Given the description of an element on the screen output the (x, y) to click on. 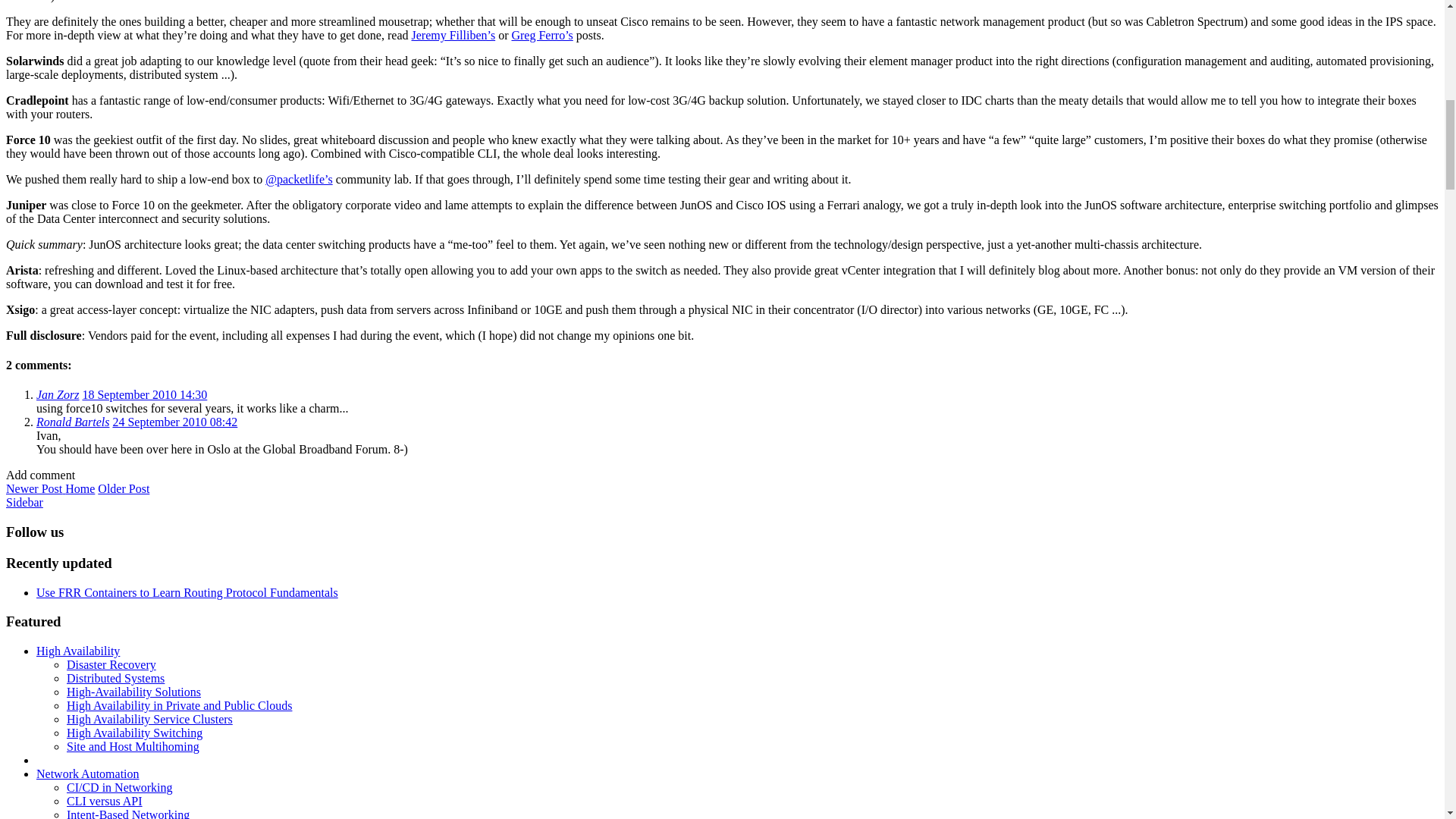
Newer Post (35, 488)
Older Post (123, 488)
